Given the description of an element on the screen output the (x, y) to click on. 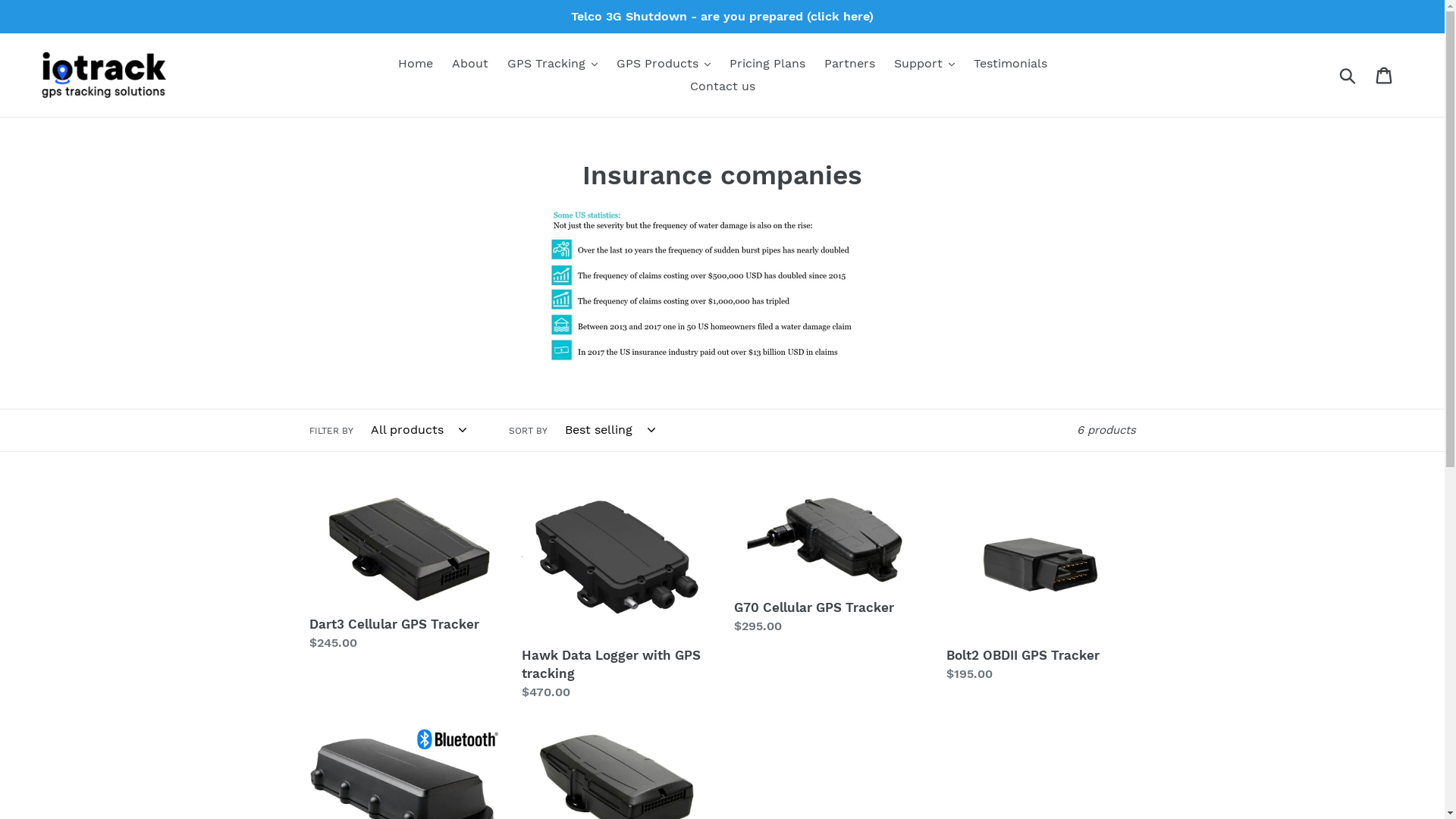
Hawk Data Logger with GPS tracking Element type: text (616, 596)
Home Element type: text (414, 63)
Telco 3G Shutdown - are you prepared (click here) Element type: text (722, 16)
Bolt2 OBDII GPS Tracker Element type: text (1040, 587)
Cart Element type: text (1384, 75)
Dart3 Cellular GPS Tracker Element type: text (403, 572)
Testimonials Element type: text (1010, 63)
About Element type: text (469, 63)
G70 Cellular GPS Tracker Element type: text (828, 563)
Contact us Element type: text (722, 86)
Pricing Plans Element type: text (766, 63)
Partners Element type: text (848, 63)
Submit Element type: text (1348, 74)
